Given the description of an element on the screen output the (x, y) to click on. 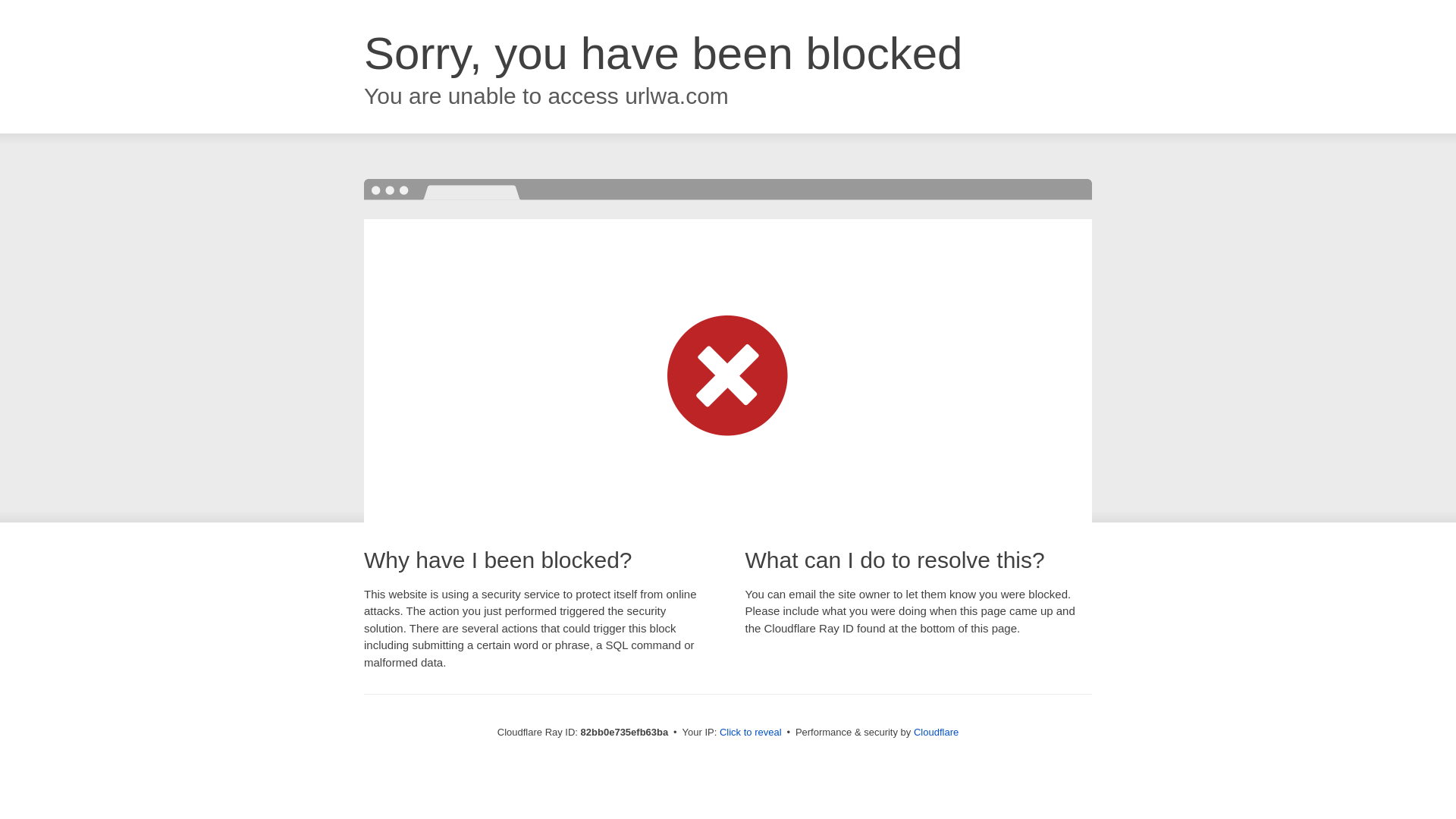
Cloudflare Element type: text (935, 731)
Click to reveal Element type: text (750, 732)
